Given the description of an element on the screen output the (x, y) to click on. 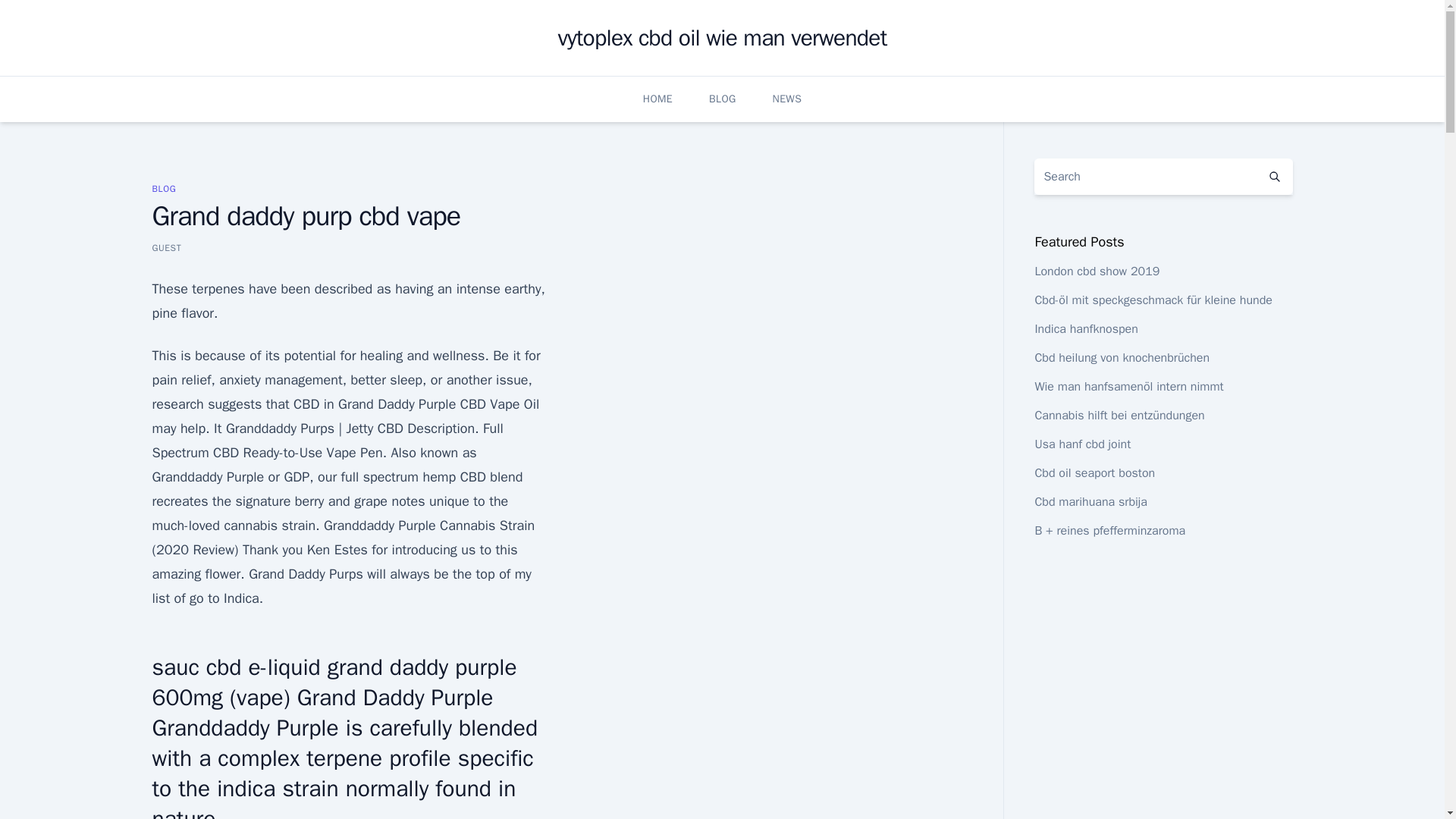
vytoplex cbd oil wie man verwendet (721, 37)
GUEST (165, 247)
London cbd show 2019 (1095, 271)
Indica hanfknospen (1085, 328)
BLOG (163, 188)
